Given the description of an element on the screen output the (x, y) to click on. 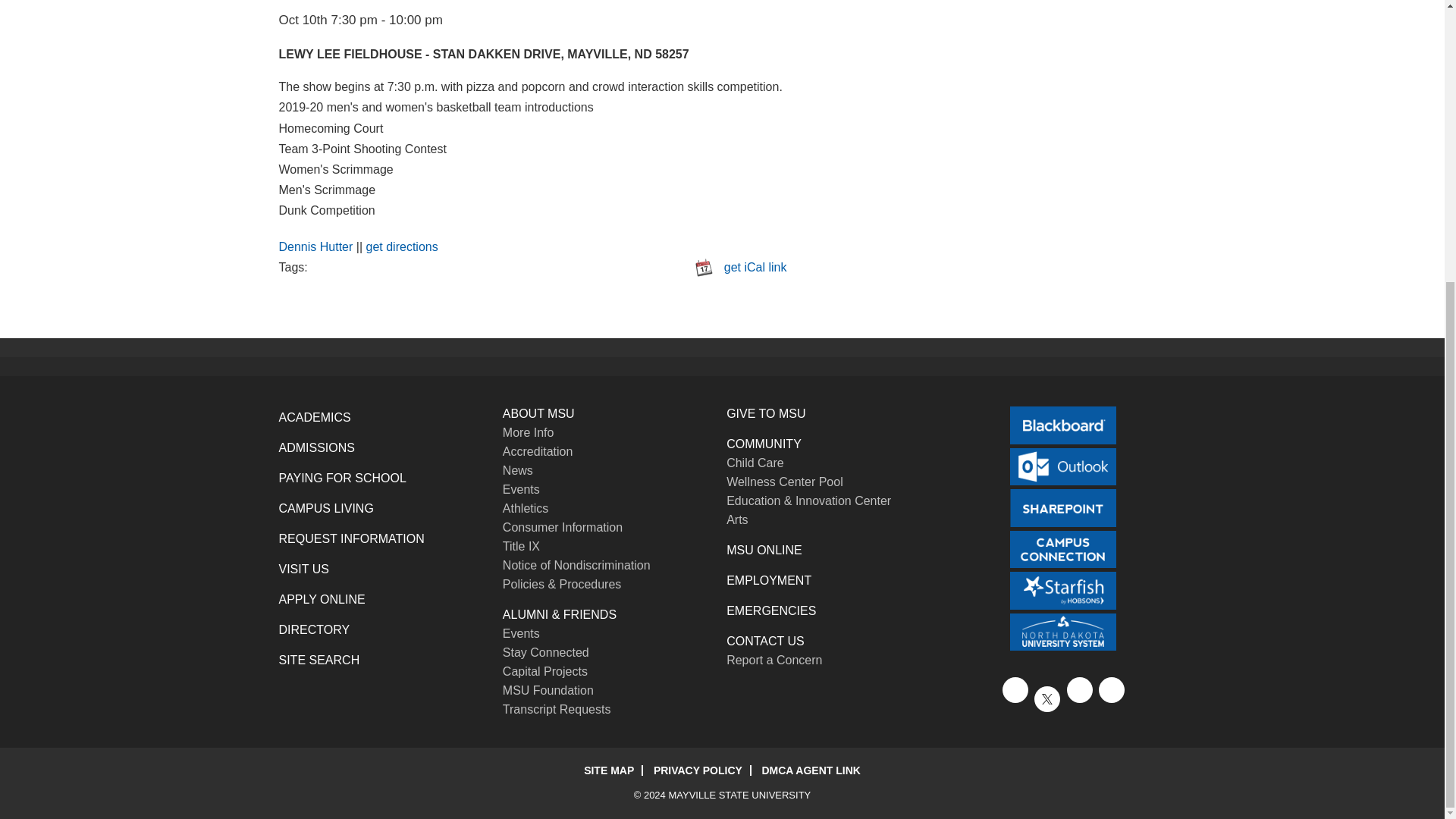
Admissions (317, 447)
Site Search (319, 659)
Request Information (352, 538)
Apply Now (322, 599)
Paying for School (342, 477)
Visit Us (304, 568)
Campus Living (326, 508)
About MSU (538, 413)
Academics (314, 417)
